Given the description of an element on the screen output the (x, y) to click on. 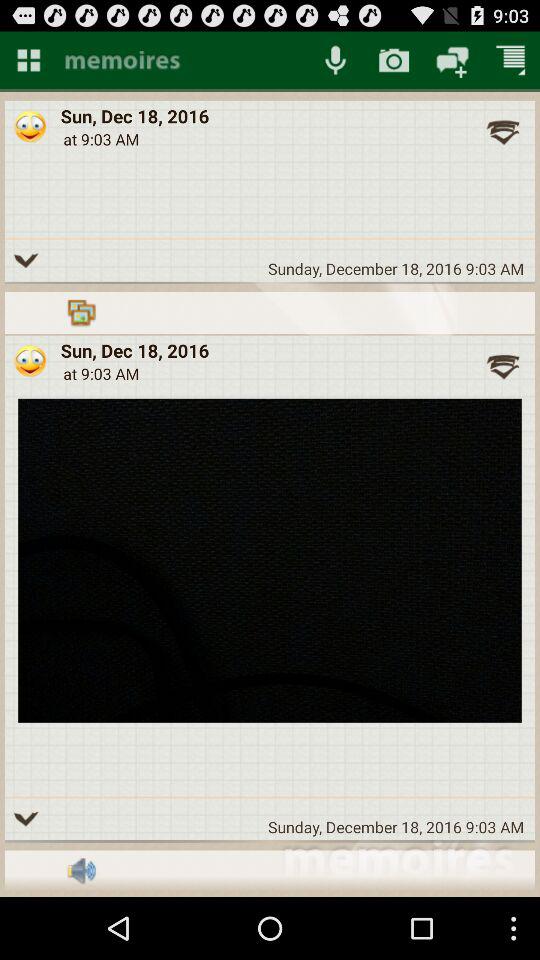
click on the icon which is show below the text sundaydecember 18 2016 903 am (80, 312)
